Given the description of an element on the screen output the (x, y) to click on. 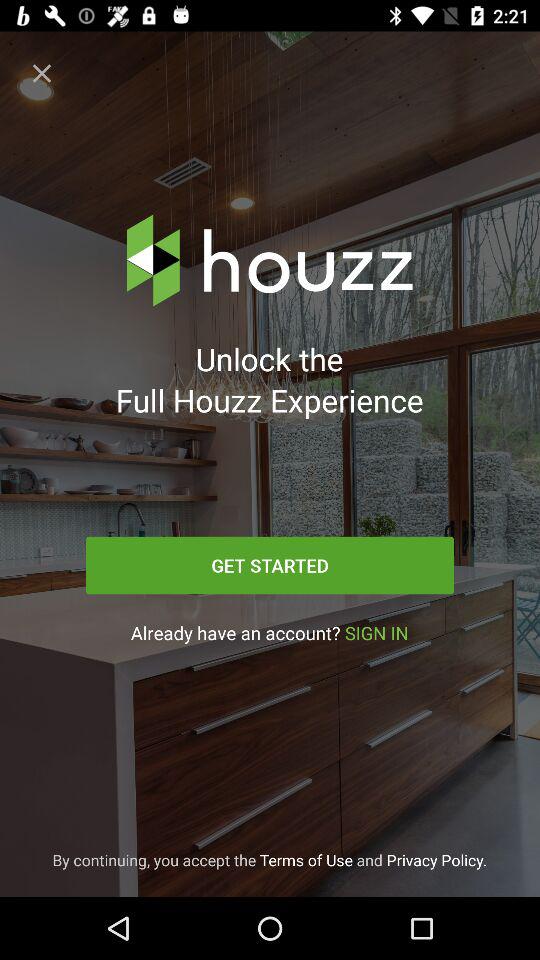
click the icon below get started icon (269, 632)
